Given the description of an element on the screen output the (x, y) to click on. 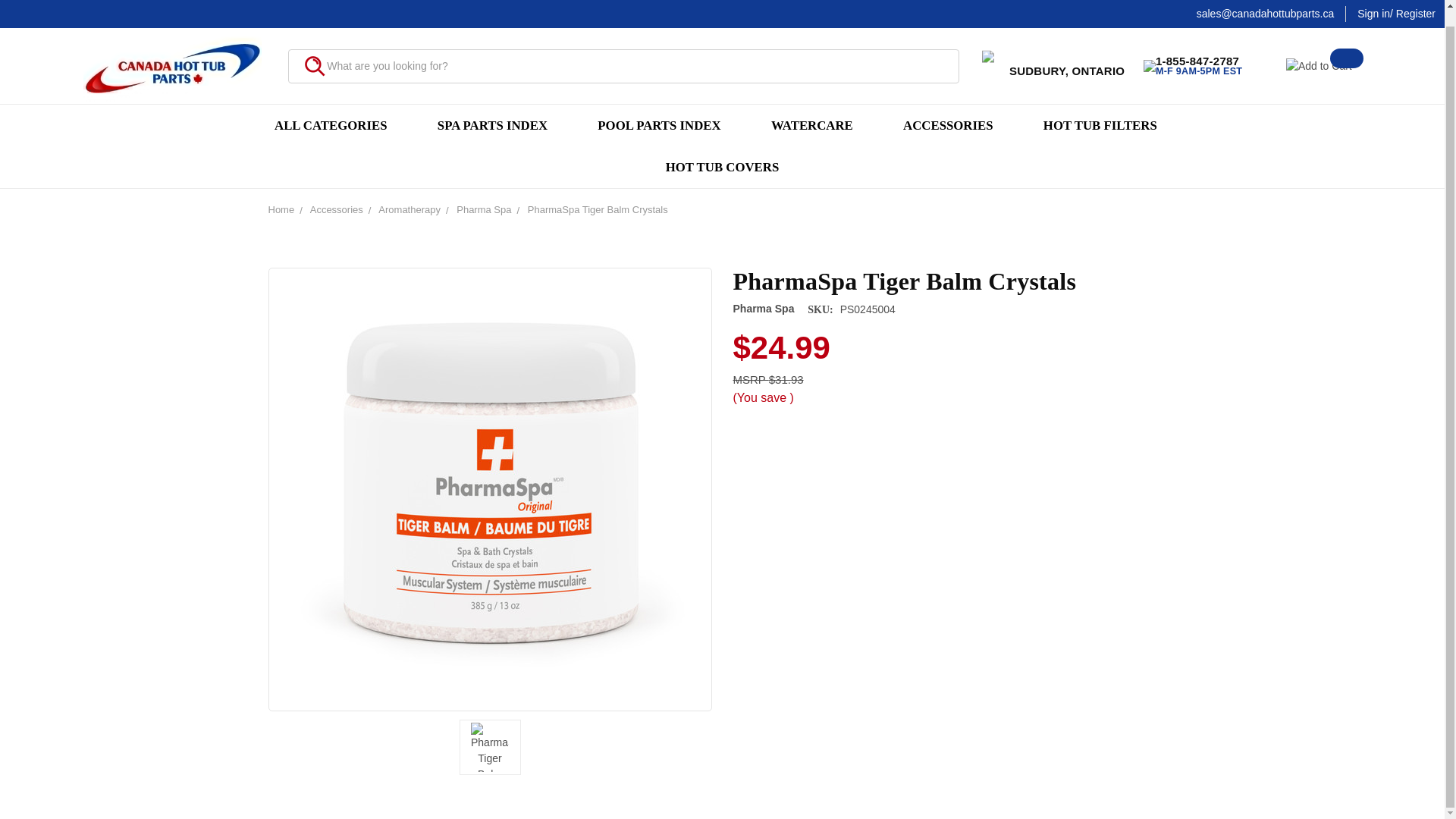
SUDBURY, ONTARIO (1049, 51)
SPA PARTS INDEX (499, 109)
ALL CATEGORIES (337, 109)
Sign in (1373, 2)
Canada Hot Tub Parts (172, 51)
